Given the description of an element on the screen output the (x, y) to click on. 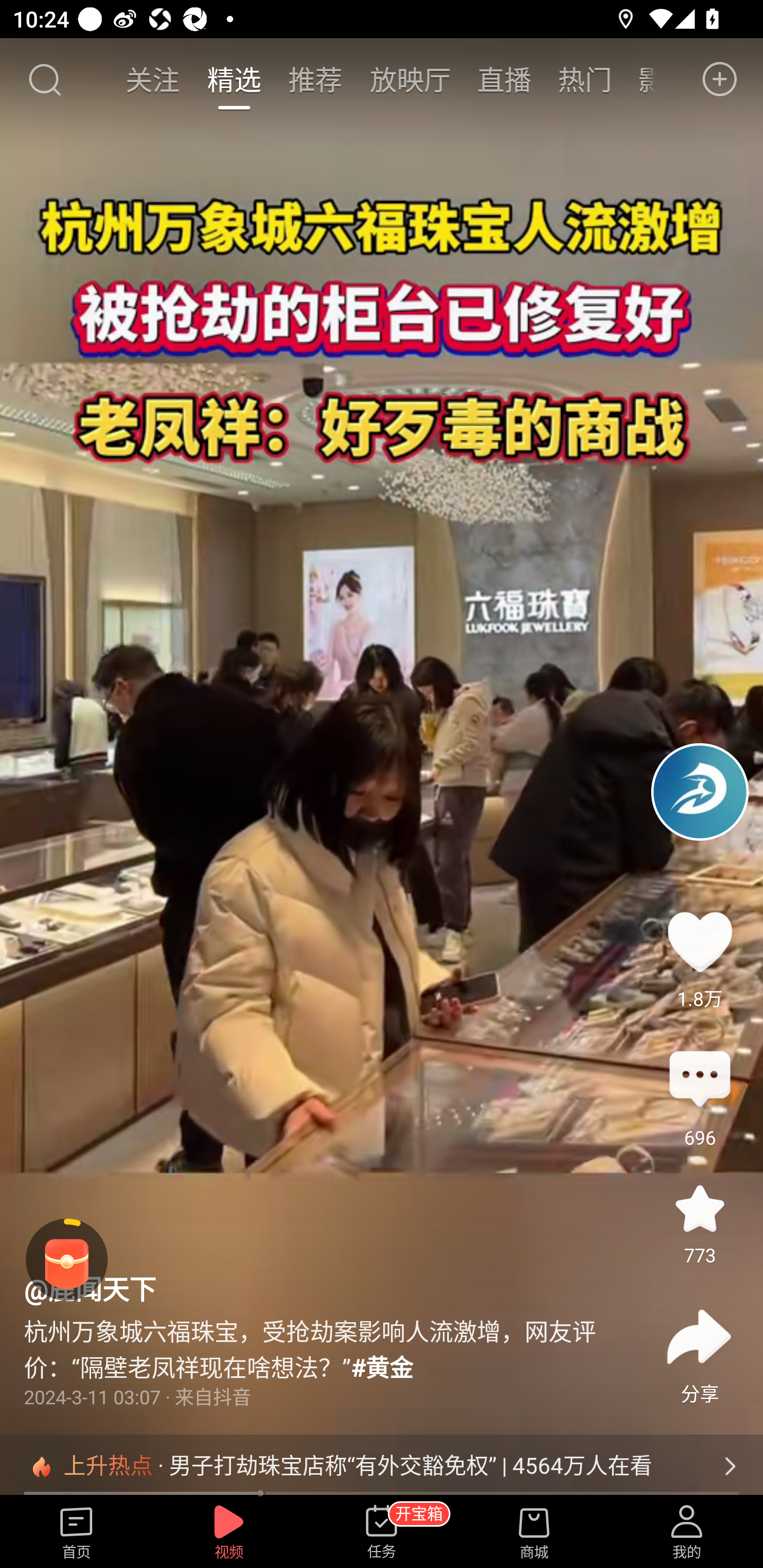
关注 (153, 79)
精选 (233, 79)
推荐 (315, 79)
放映厅 (409, 79)
直播 (504, 79)
热门 (584, 79)
搜索 (44, 79)
发布 (720, 79)
头像 (699, 791)
点赞18218 1.8万 (699, 941)
评论696 评论 696 (699, 1080)
收藏 773 (699, 1207)
阅读赚金币 (66, 1259)
分享 (699, 1336)
上升热点  · 男子打劫珠宝店称“有外交豁免权”  | 4564万人在看 (381, 1465)
首页 (76, 1532)
视频 (228, 1532)
任务 开宝箱 (381, 1532)
商城 (533, 1532)
我的 (686, 1532)
